Given the description of an element on the screen output the (x, y) to click on. 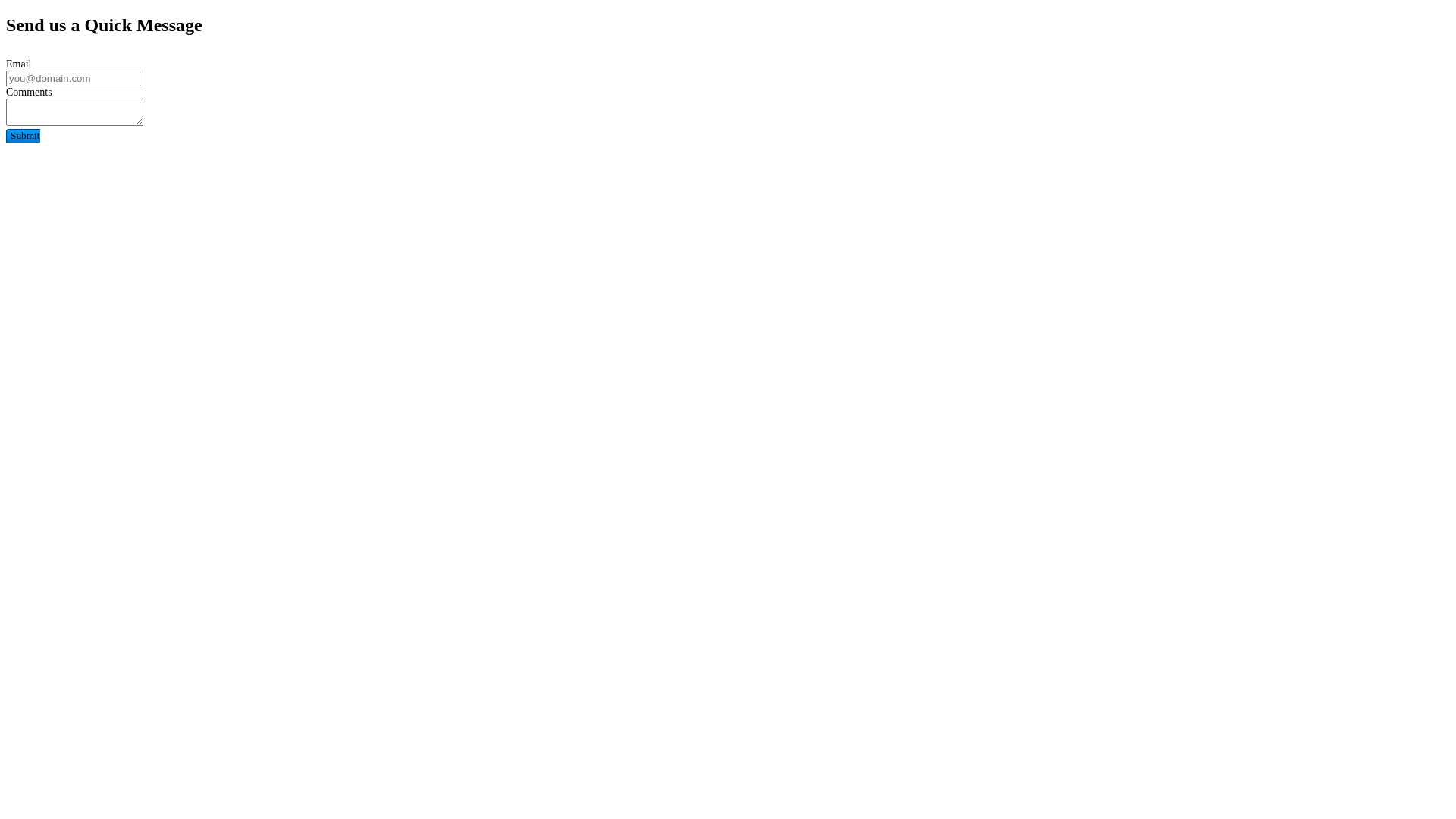
Submit Element type: text (23, 135)
